Given the description of an element on the screen output the (x, y) to click on. 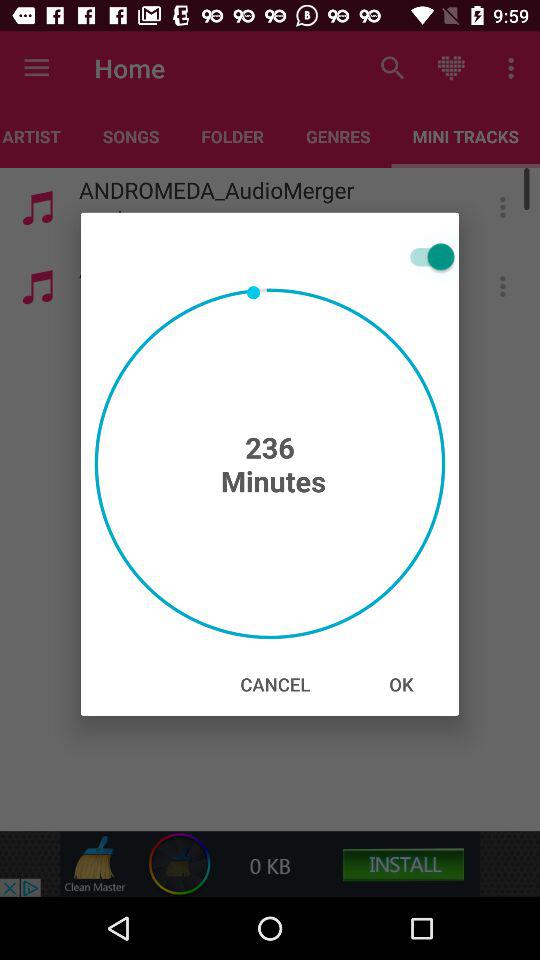
swipe until ok item (401, 683)
